Given the description of an element on the screen output the (x, y) to click on. 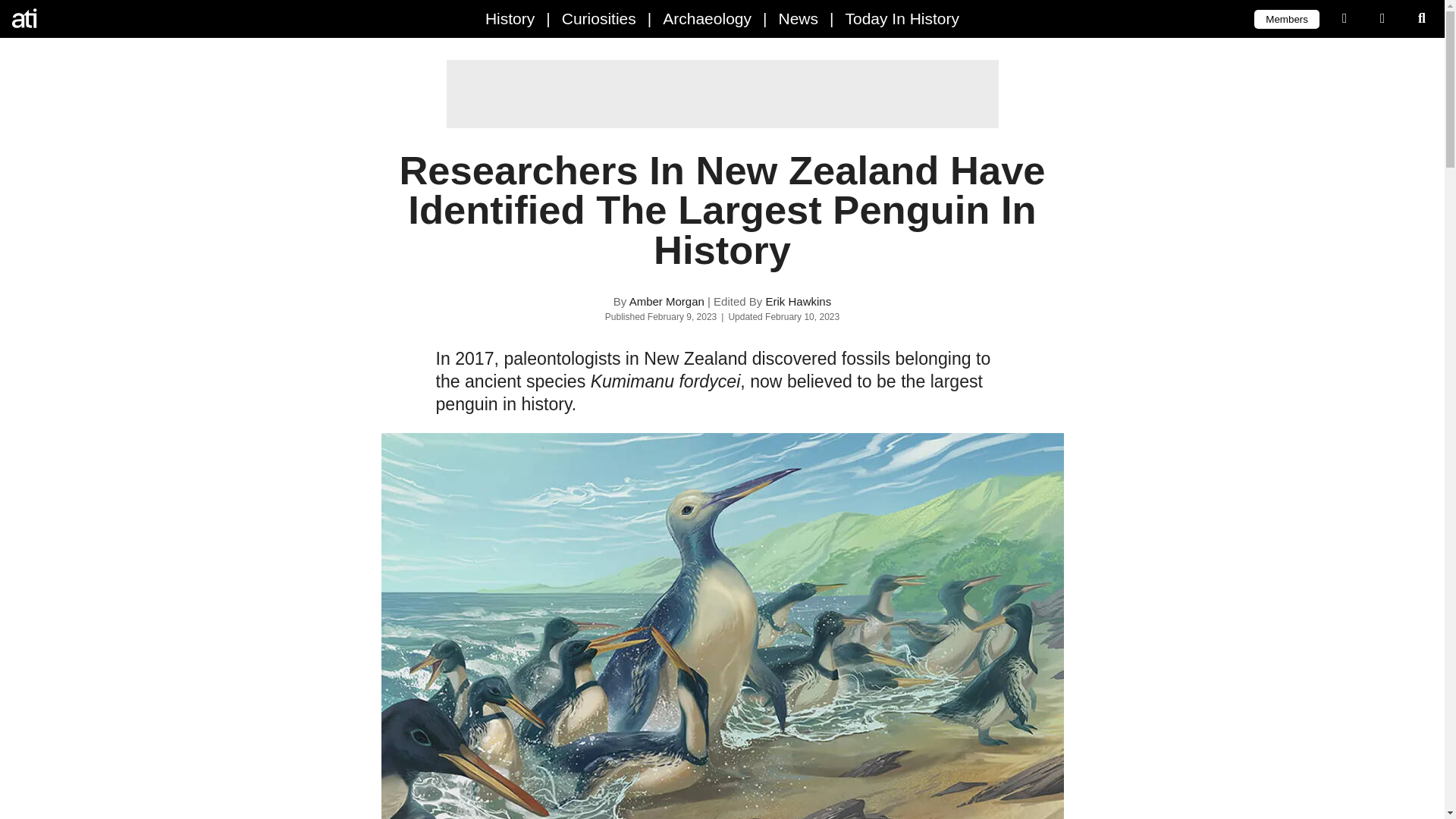
Erik Hawkins (798, 300)
Curiosities (598, 18)
Today In History (901, 18)
News (798, 18)
Archaeology (706, 18)
Members (1286, 18)
All That's Interesting (75, 18)
Amber Morgan (666, 300)
History (510, 18)
